Given the description of an element on the screen output the (x, y) to click on. 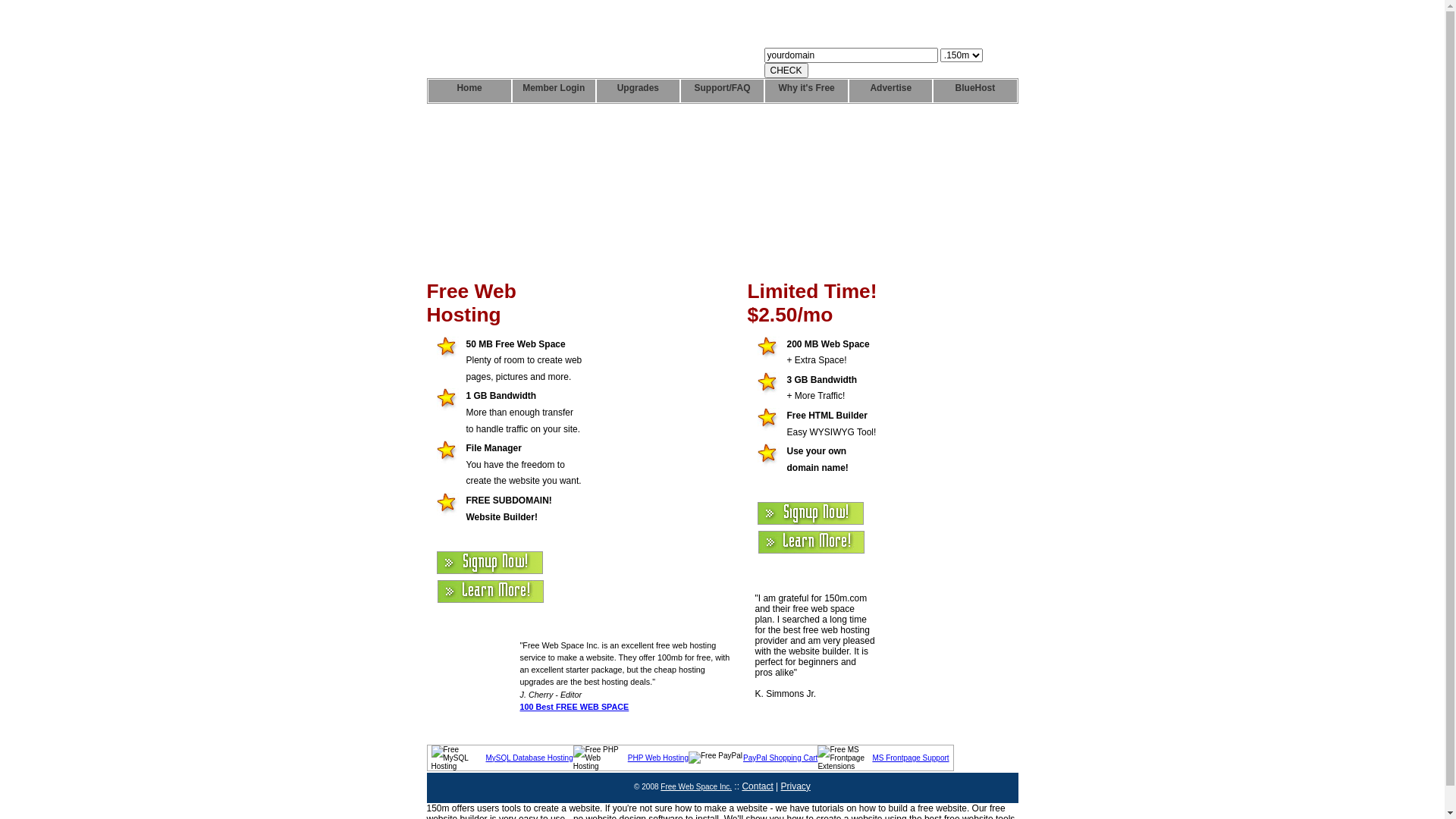
Privacy Element type: text (795, 786)
Free Web Space Inc. Element type: text (695, 786)
MS Frontpage Support Element type: text (910, 757)
Contact Element type: text (756, 786)
Support/FAQ Element type: text (721, 90)
Member Login Element type: text (553, 90)
MySQL Database Hosting Element type: text (528, 757)
Advertise Element type: text (890, 90)
100 Best FREE WEB SPACE Element type: text (574, 706)
Upgrades Element type: text (637, 90)
PayPal Shopping Cart Element type: text (780, 757)
Home Element type: text (468, 90)
PHP Web Hosting Element type: text (657, 757)
CHECK Element type: text (786, 70)
BlueHost Element type: text (974, 90)
Why it's Free Element type: text (806, 90)
